Given the description of an element on the screen output the (x, y) to click on. 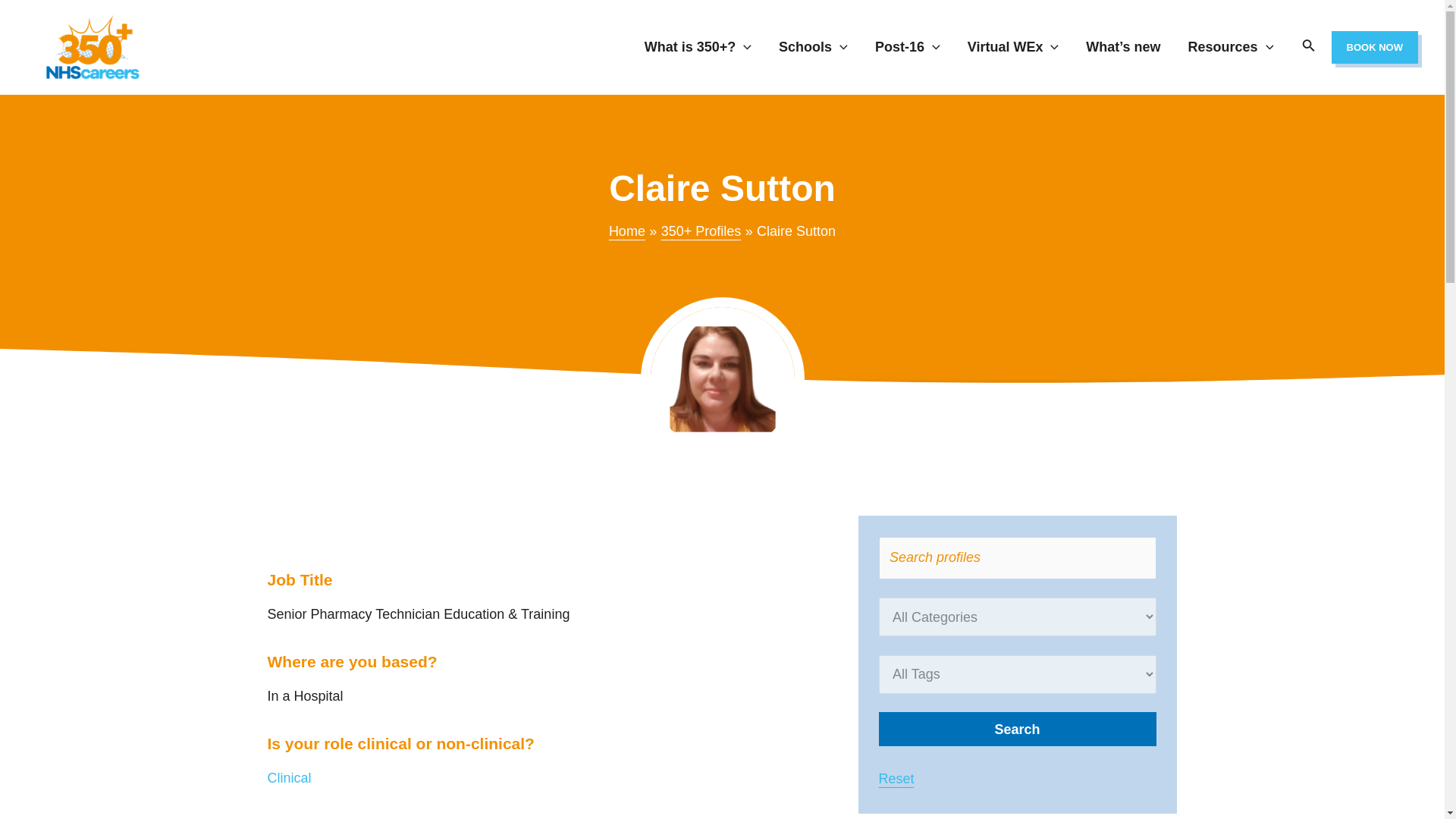
Virtual WEx (1013, 46)
BOOK NOW (1375, 46)
Post-16 (907, 46)
Search (1016, 728)
Resources (1230, 46)
Schools (813, 46)
